Given the description of an element on the screen output the (x, y) to click on. 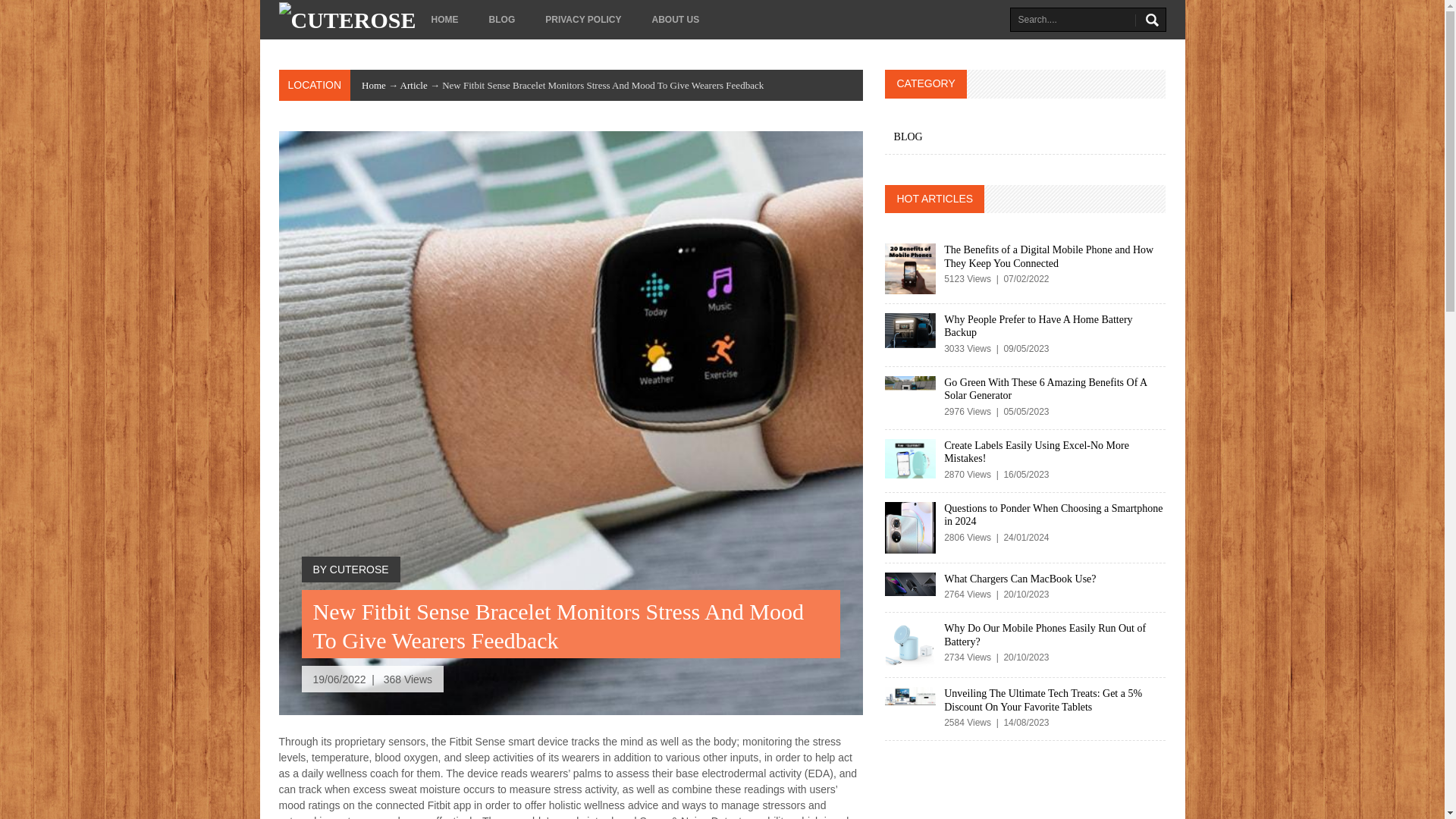
About Us (675, 19)
Article (414, 84)
Questions to Ponder When Choosing a Smartphone in 2024 (1052, 514)
Why People Prefer to Have A Home Battery Backup (1037, 326)
BLOG (502, 19)
What Chargers Can MacBook Use? (1019, 578)
cuterose (347, 20)
ABOUT US (675, 19)
Go Green With These 6 Amazing Benefits Of A Solar Generator (1045, 389)
Home (373, 84)
